Given the description of an element on the screen output the (x, y) to click on. 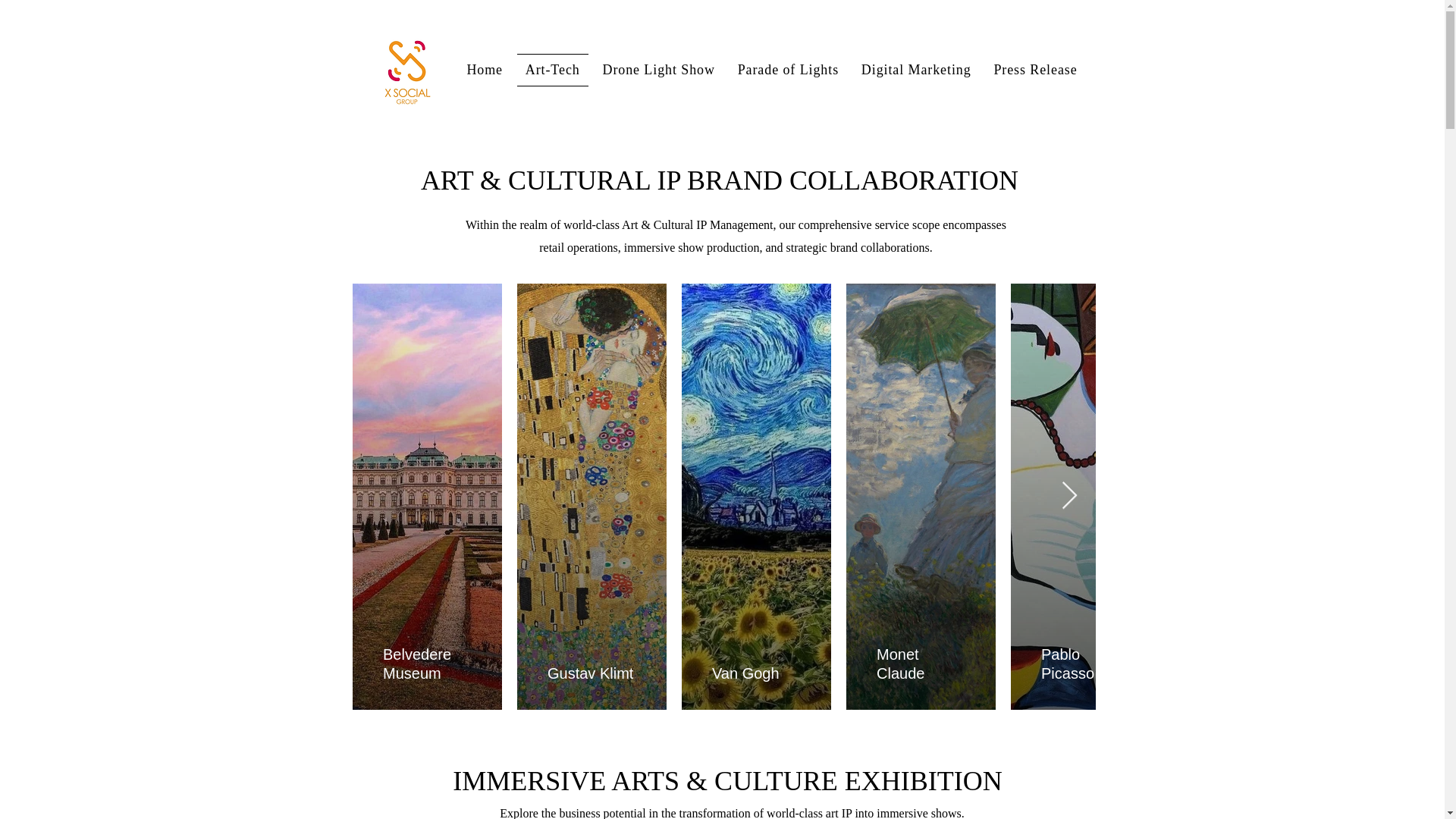
Parade of Lights (788, 70)
Press Release (1035, 70)
Art-Tech (552, 70)
Home (484, 70)
Drone Light Show (658, 70)
Digital Marketing (916, 70)
